Given the description of an element on the screen output the (x, y) to click on. 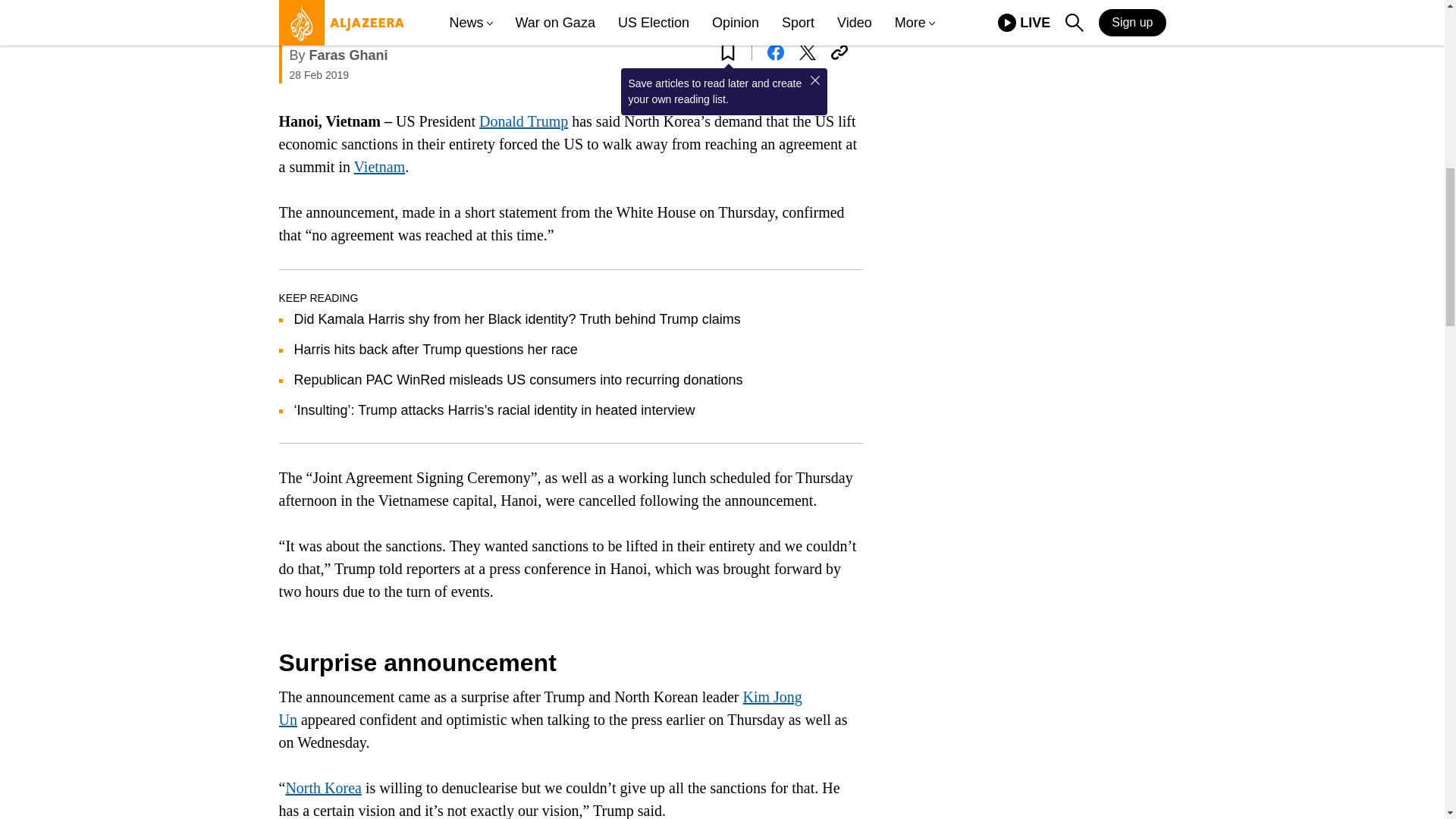
Close Tooltip (814, 79)
facebook (775, 52)
Faras Ghani (348, 55)
facebook (775, 52)
twitter (807, 52)
copylink (839, 52)
twitter (807, 52)
